Given the description of an element on the screen output the (x, y) to click on. 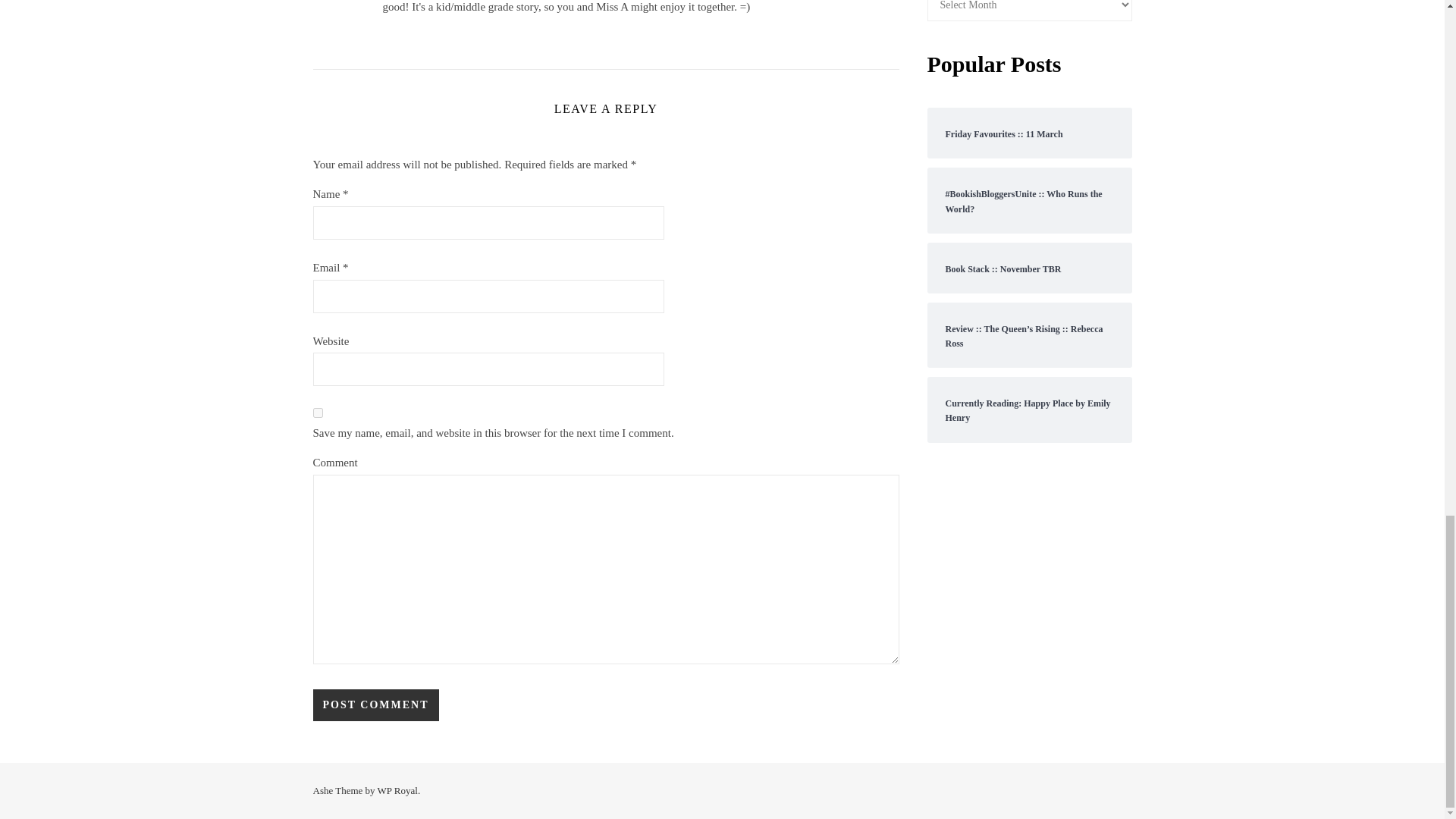
Currently Reading: Happy Place by Emily Henry (1028, 409)
Friday Favourites :: 11 March (1028, 133)
Post Comment (375, 705)
Post Comment (375, 705)
Book Stack :: November TBR (1028, 268)
yes (317, 412)
